Given the description of an element on the screen output the (x, y) to click on. 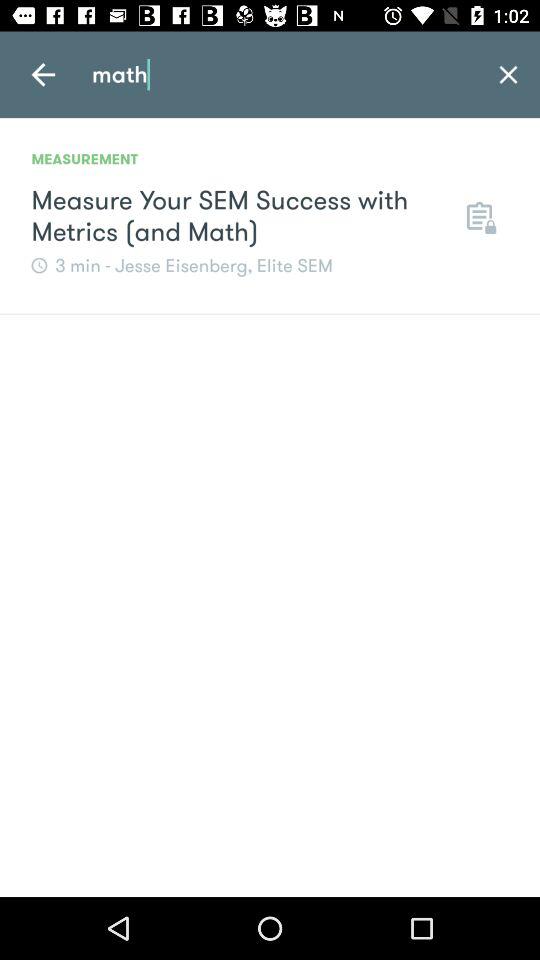
launch icon next to the math (43, 74)
